Given the description of an element on the screen output the (x, y) to click on. 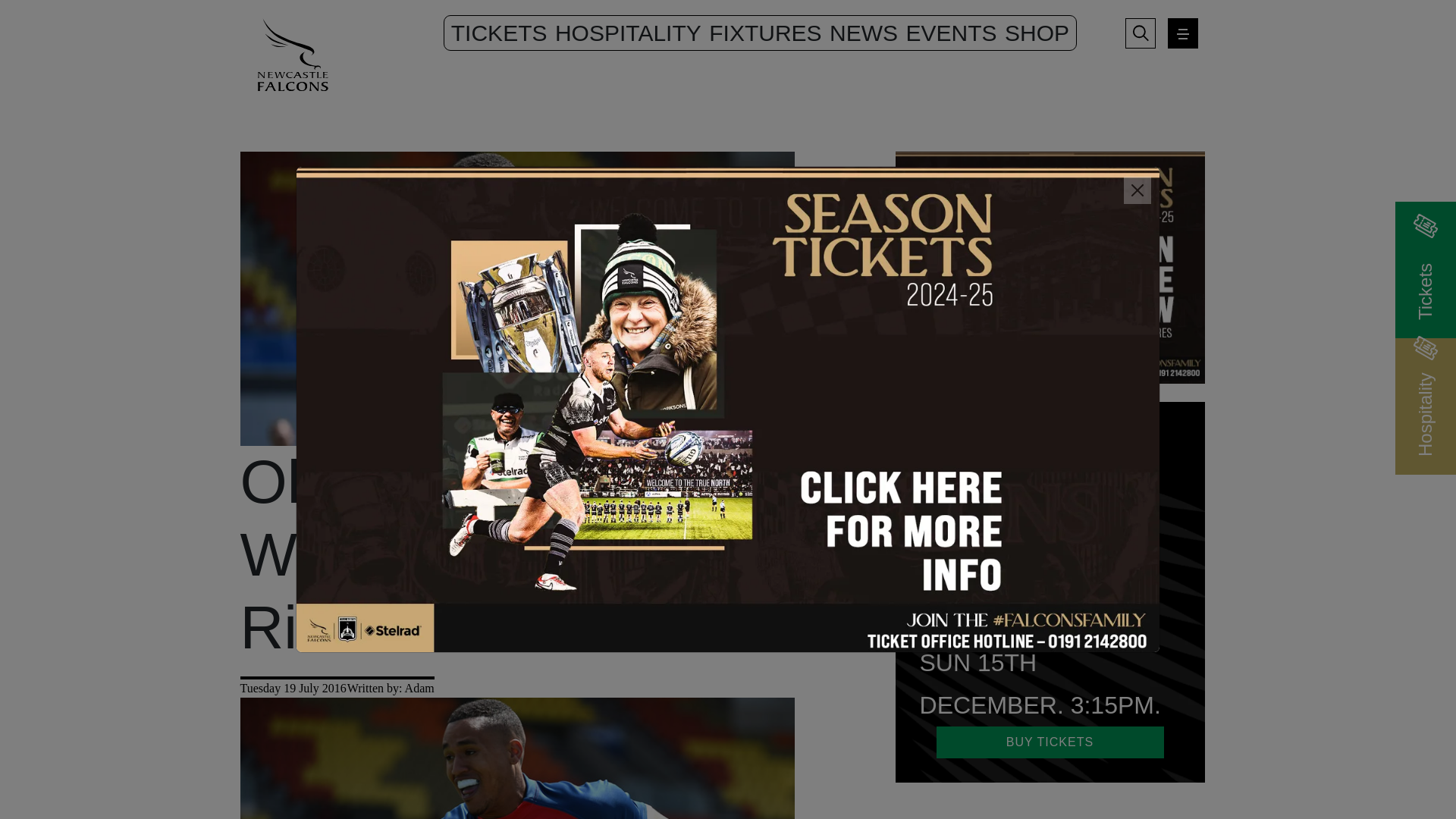
Link (1050, 275)
